Given the description of an element on the screen output the (x, y) to click on. 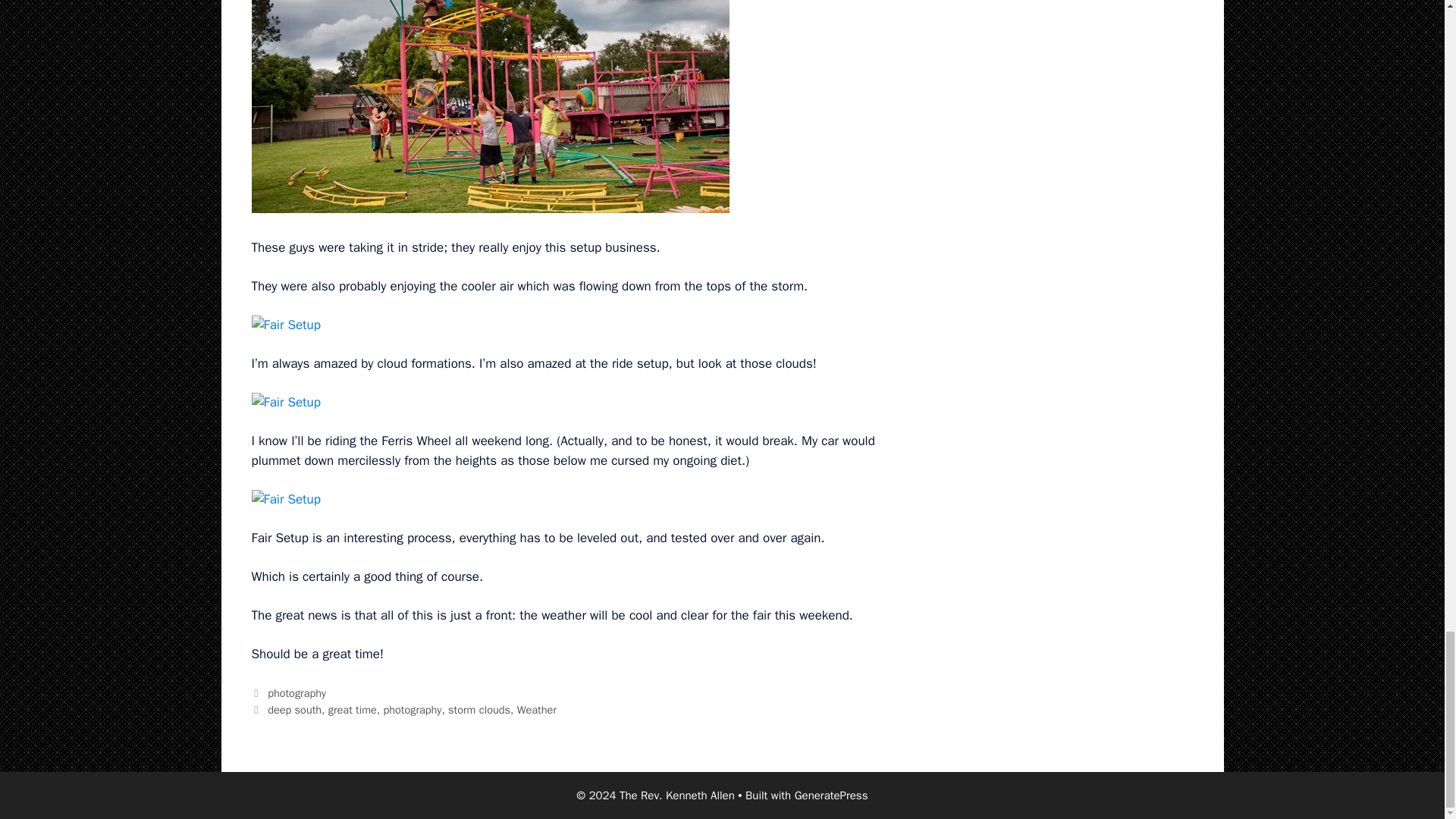
setup6 (285, 402)
setup4 (490, 106)
photography (411, 709)
setup7 (285, 499)
deep south (294, 709)
great time (353, 709)
photography (296, 693)
storm clouds (479, 709)
Weather (536, 709)
setup5 (285, 324)
